Given the description of an element on the screen output the (x, y) to click on. 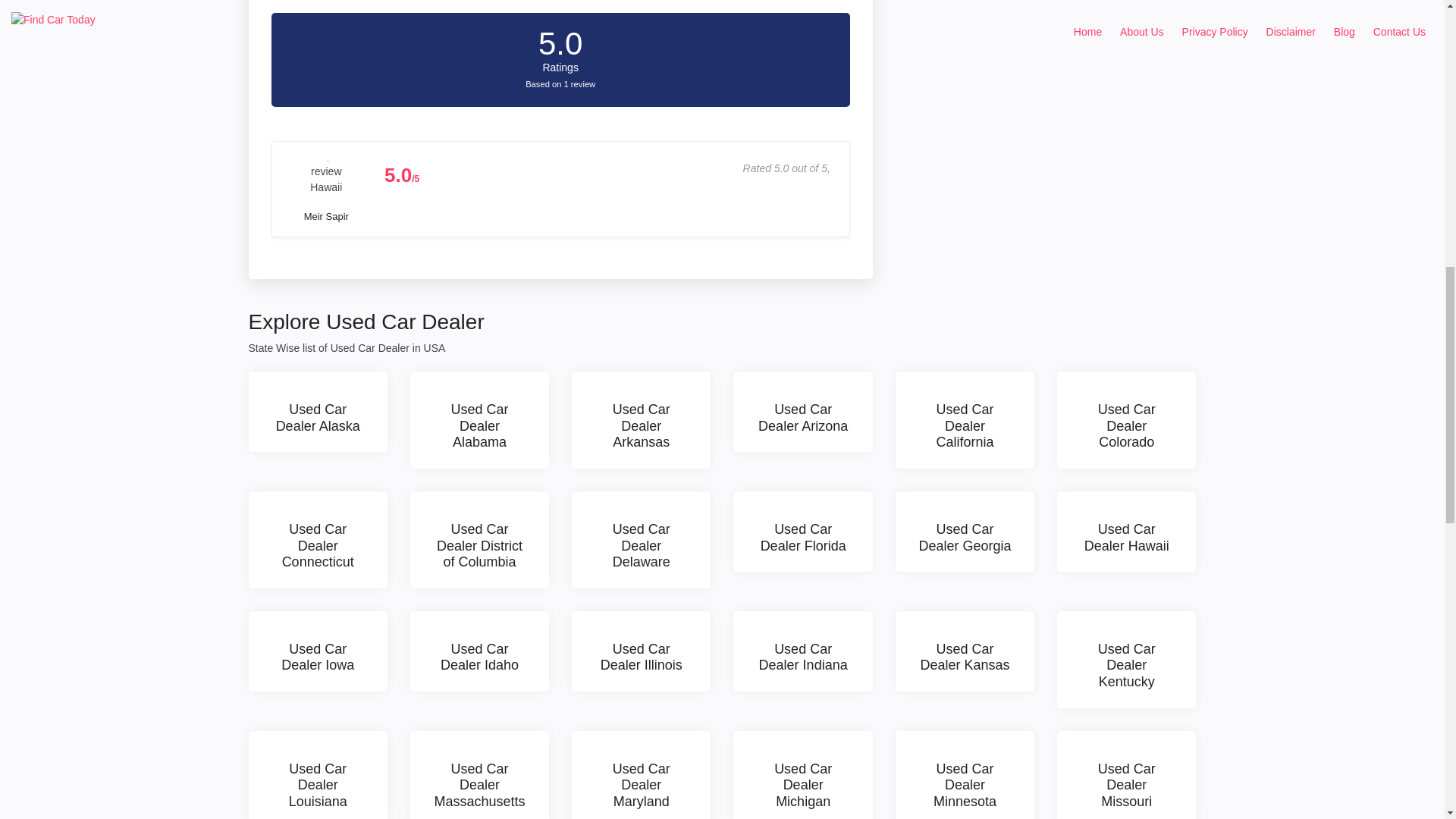
Used Car Dealer Alaska (317, 411)
Used Car Dealer Arkansas (641, 419)
Used Car Dealer Alabama (479, 419)
